Given the description of an element on the screen output the (x, y) to click on. 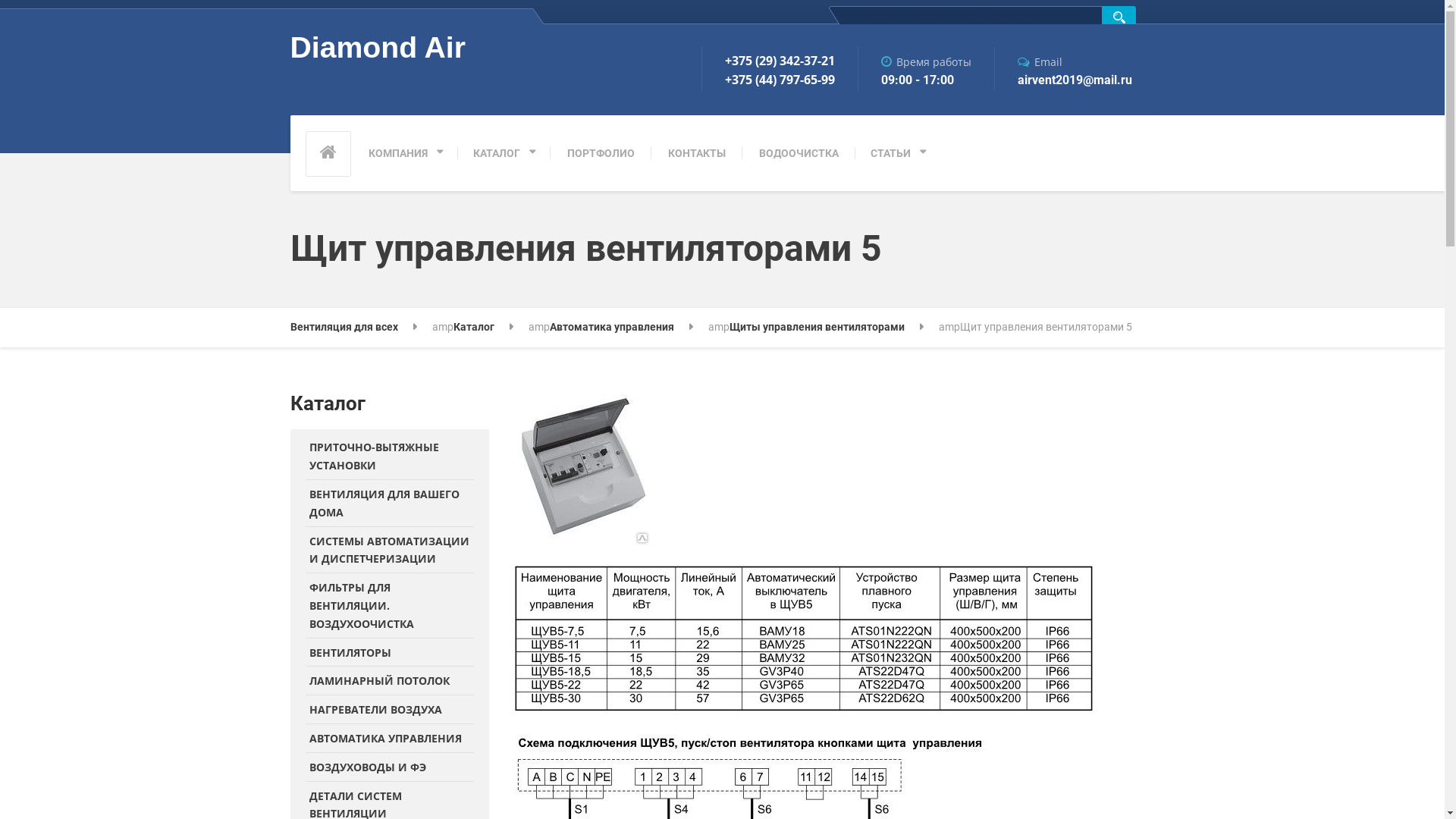
+375 (29) 342-37-21 Element type: text (767, 59)
+375 (44) 797-65-99 Element type: text (767, 80)
Email
airvent2019@mail.ru Element type: text (1062, 68)
Diamond Air Element type: text (377, 53)
